Given the description of an element on the screen output the (x, y) to click on. 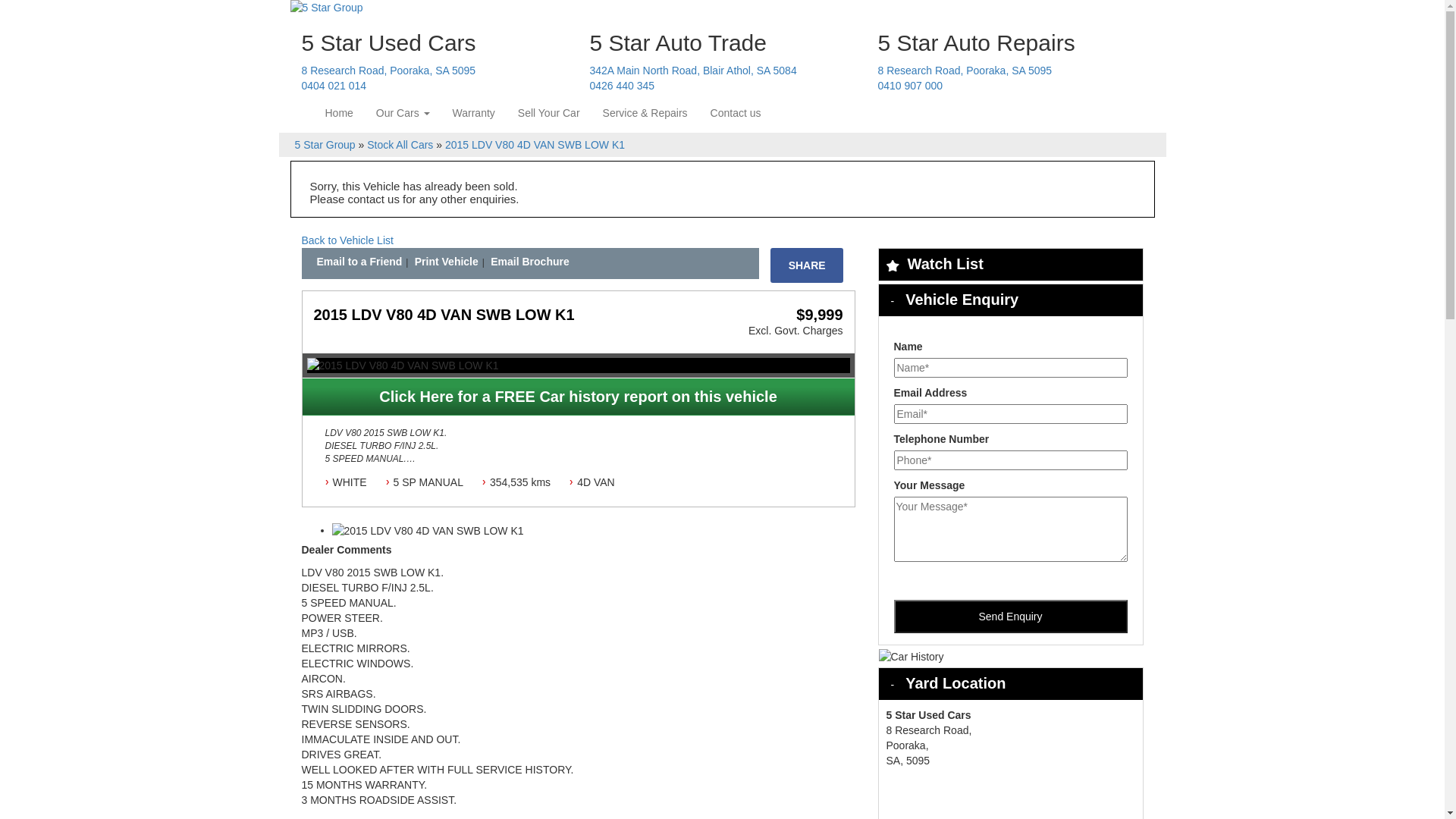
Home Element type: text (338, 112)
Contact us Element type: text (735, 112)
Back to Vehicle List Element type: text (347, 240)
Watch List Element type: text (1010, 264)
Our Cars Element type: text (402, 112)
0426 440 345 Element type: text (622, 85)
Service & Repairs Element type: text (645, 112)
342A Main North Road, Blair Athol, SA 5084 Element type: text (693, 70)
Sell Your Car Element type: text (548, 112)
8 Research Road, Pooraka, SA 5095 Element type: text (965, 70)
Warranty Element type: text (473, 112)
Email to a Friend Element type: text (359, 261)
2015 LDV V80 4D VAN SWB LOW K1 Element type: text (534, 144)
0404 021 014 Element type: text (334, 85)
Print Vehicle Element type: text (446, 261)
Stock All Cars Element type: text (400, 144)
Watch List Element type: text (944, 263)
5 Star Group Element type: text (324, 144)
Send Enquiry Element type: text (1009, 616)
8 Research Road, Pooraka, SA 5095 Element type: text (388, 70)
0410 907 000 Element type: text (910, 85)
Email Brochure Element type: text (529, 261)
